Given the description of an element on the screen output the (x, y) to click on. 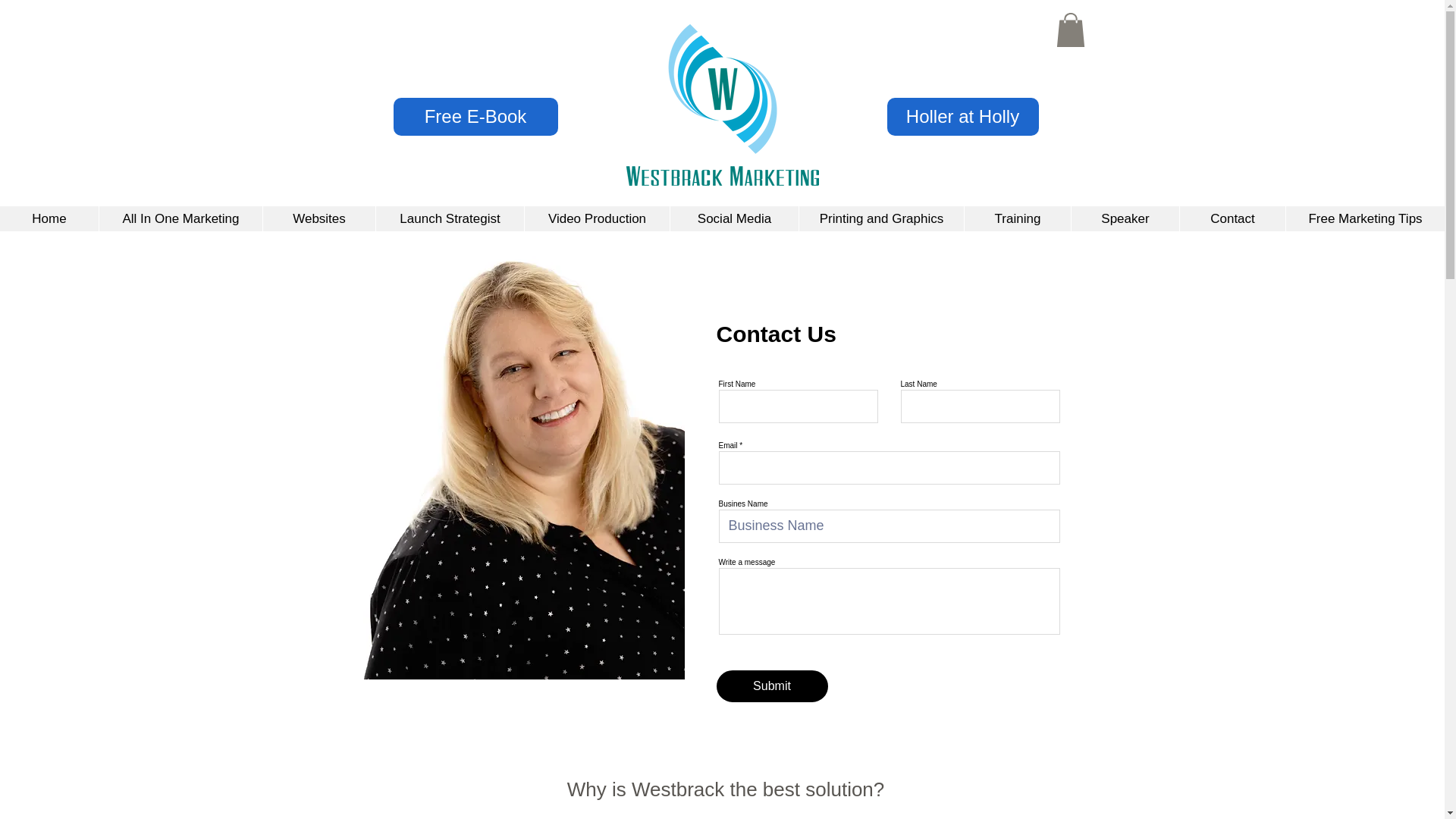
Printing and Graphics (880, 218)
Holler at Holly (962, 116)
All In One Marketing (180, 218)
Submit (771, 685)
Video Production (596, 218)
Free E-Book (475, 116)
Speaker (1124, 218)
Home (49, 218)
Contact (1232, 218)
Social Media (733, 218)
Launch Strategist (449, 218)
